Given the description of an element on the screen output the (x, y) to click on. 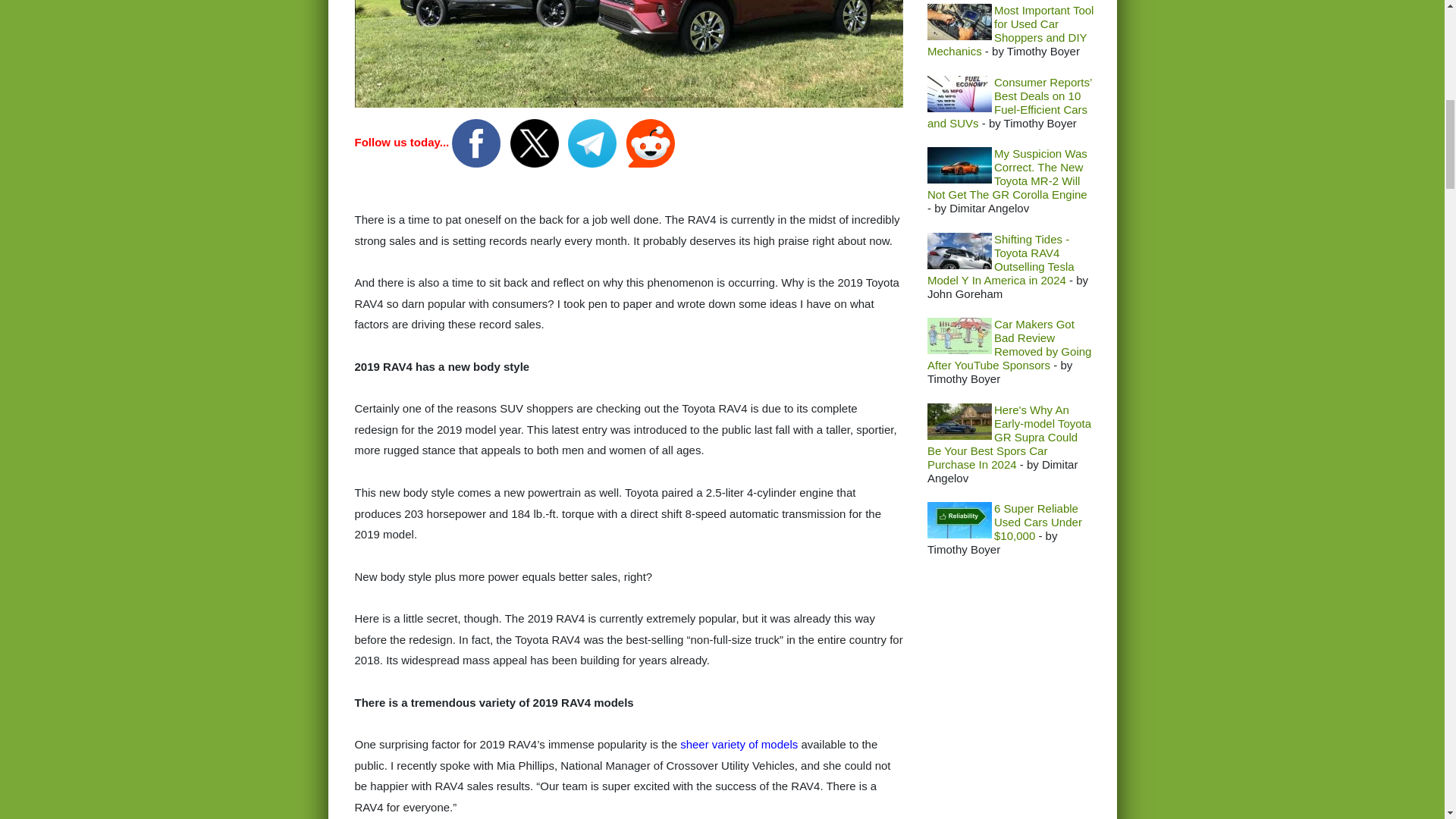
Join us on Reddit! (650, 141)
Join us on Telegram! (593, 141)
sheer variety of models (738, 744)
